Given the description of an element on the screen output the (x, y) to click on. 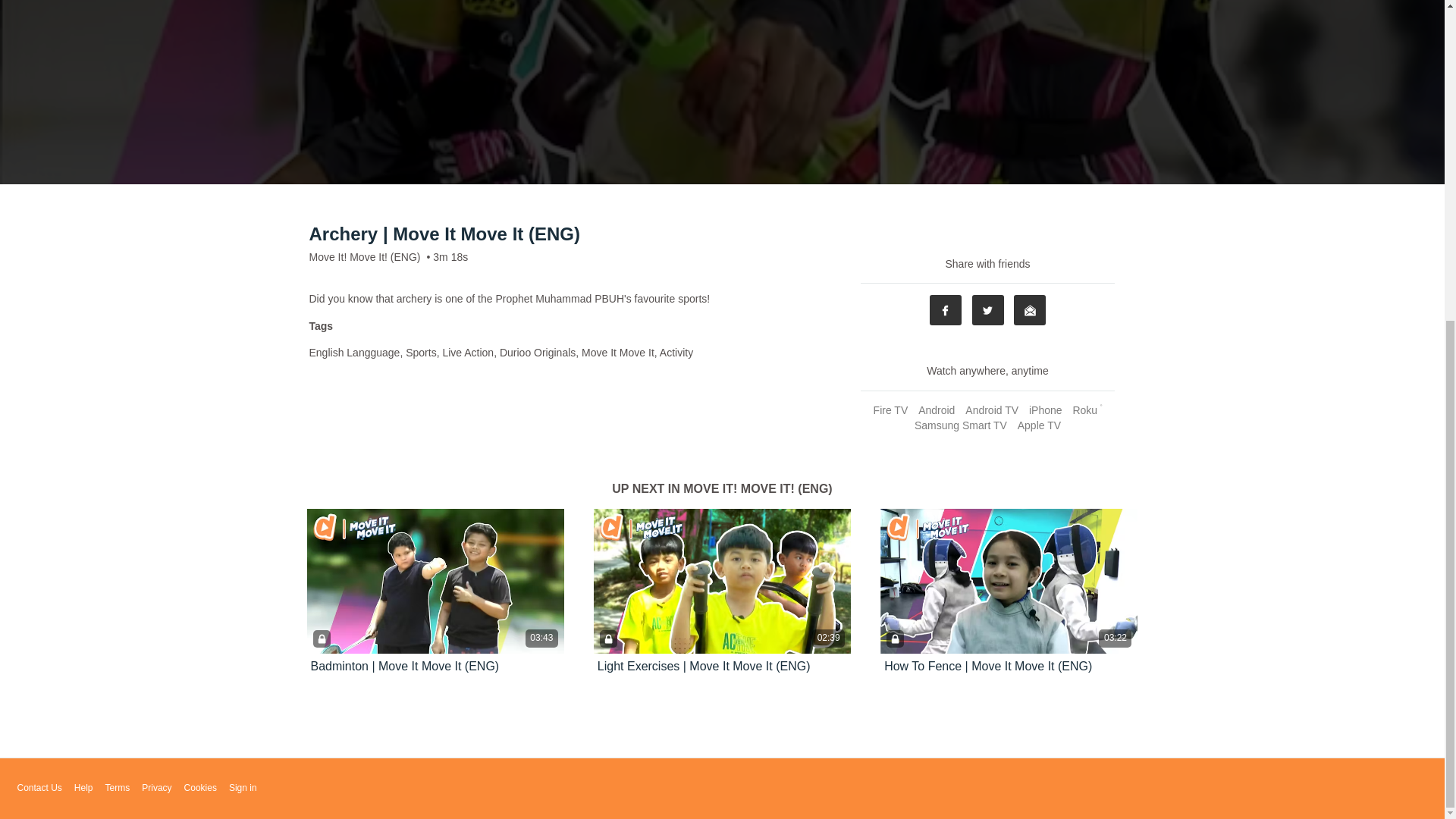
Android (936, 410)
Contact Us (38, 788)
Help (83, 788)
02:39 (722, 580)
Move It Move It (616, 352)
Apple TV (1038, 425)
Samsung Smart TV (960, 425)
Activity (676, 352)
03:43 (434, 580)
Fire TV (890, 410)
Sports (420, 352)
iPhone (1045, 410)
Live Action (467, 352)
Android TV (991, 410)
Durioo Originals (537, 352)
